Given the description of an element on the screen output the (x, y) to click on. 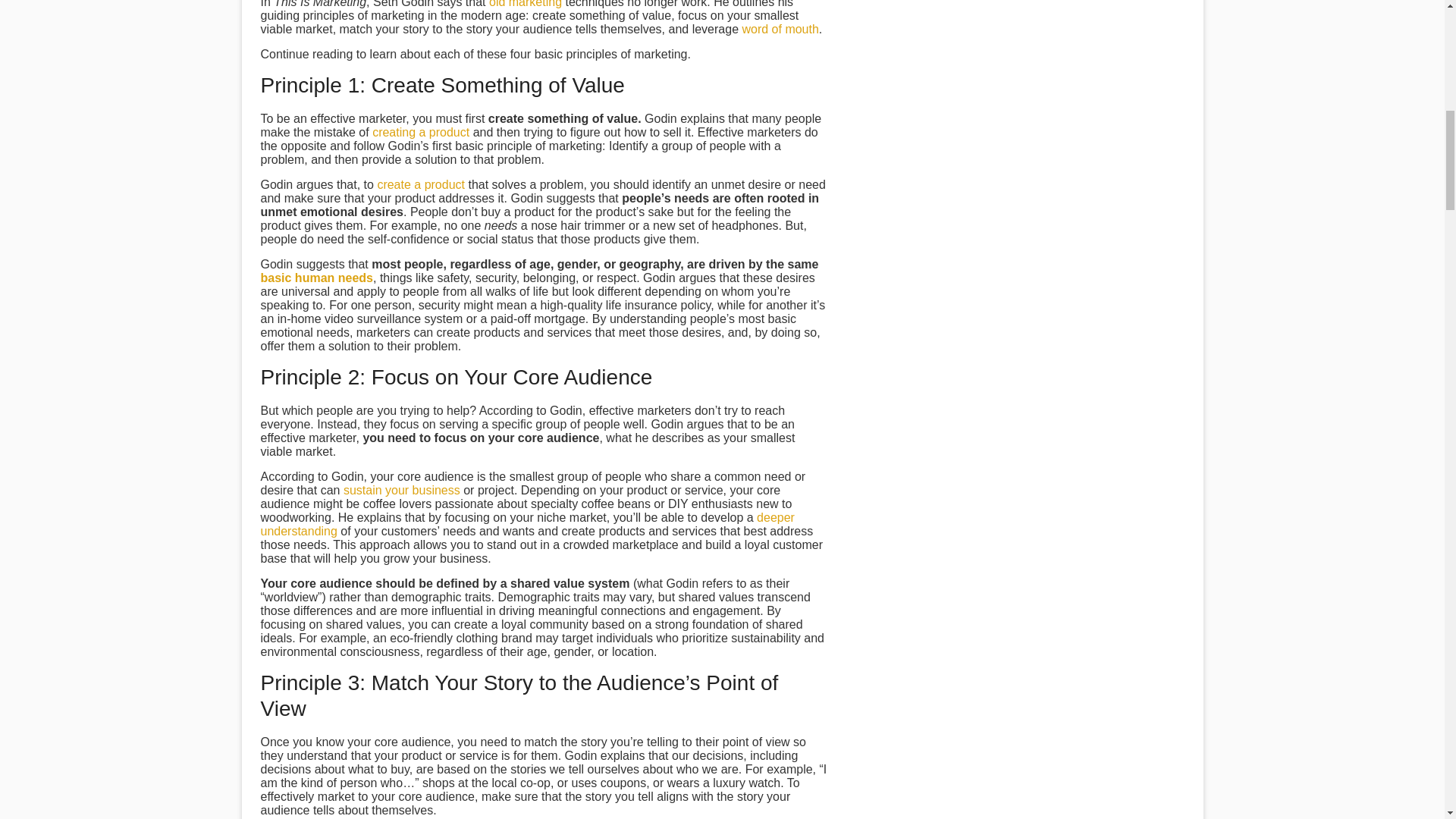
basic human needs (317, 277)
deeper understanding (527, 524)
word of mouth (779, 29)
create a product (420, 184)
creating a product (420, 132)
sustain your business (401, 490)
old marketing (525, 4)
